Given the description of an element on the screen output the (x, y) to click on. 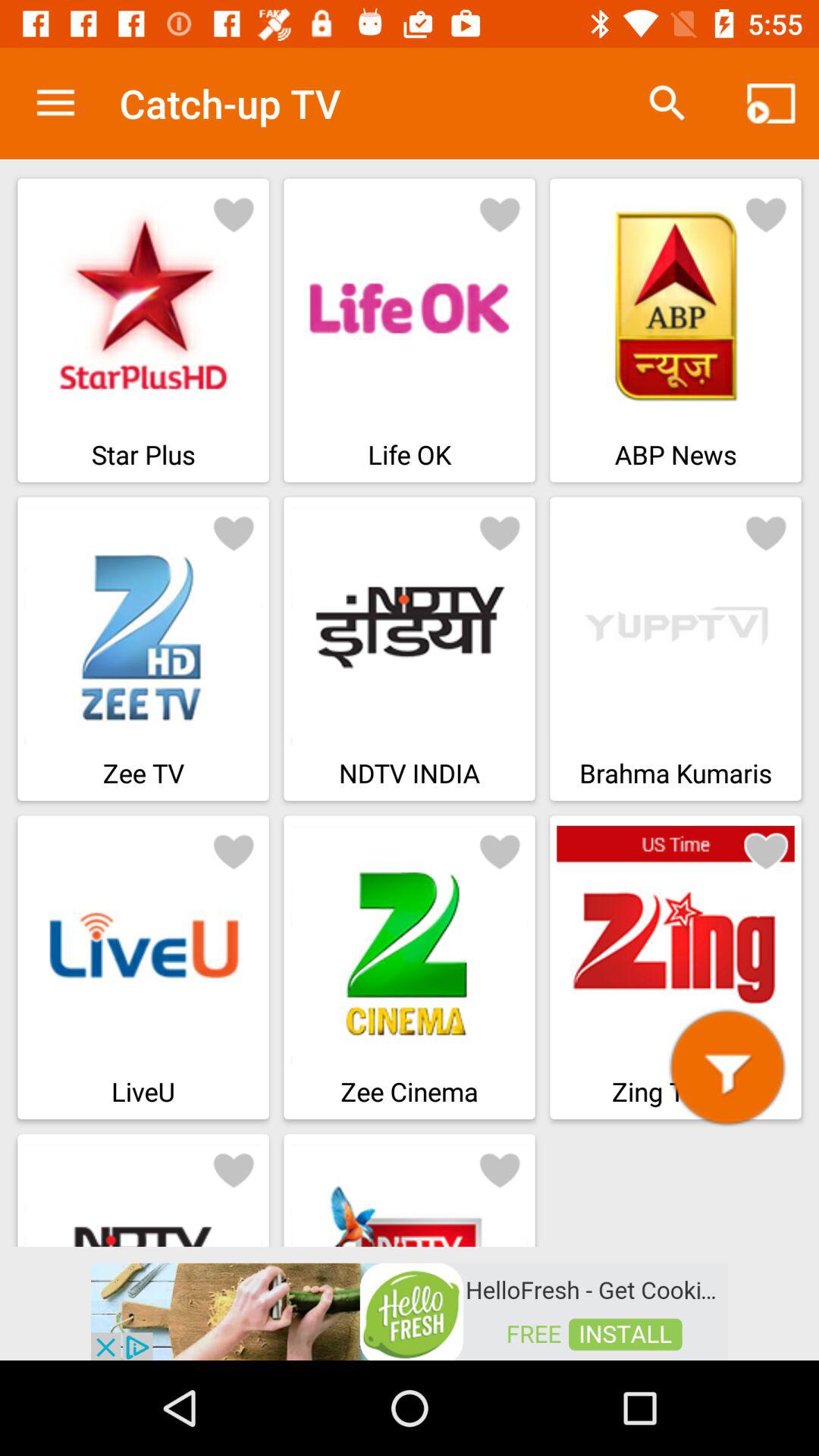
click on like button (499, 213)
